Given the description of an element on the screen output the (x, y) to click on. 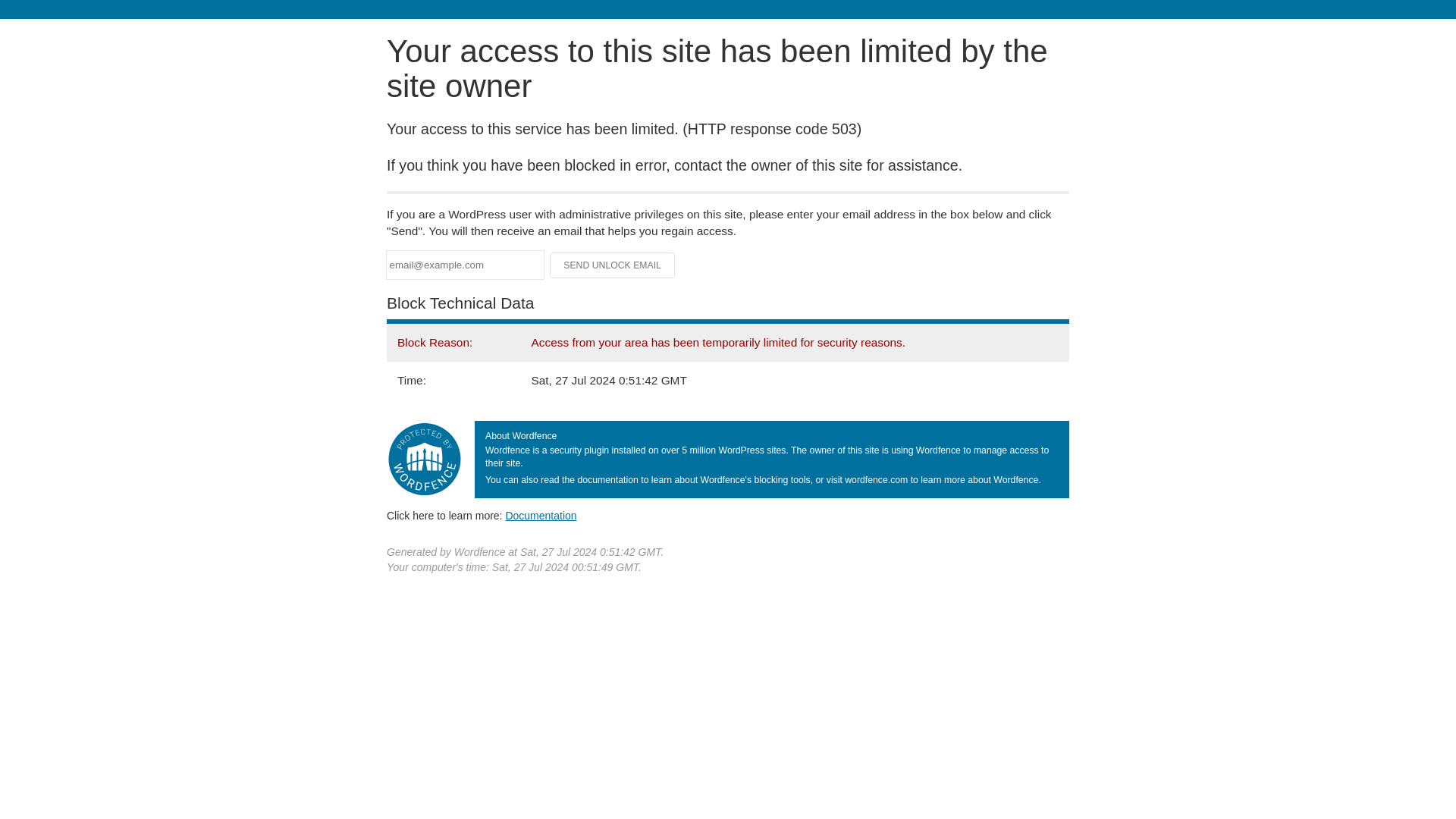
Send Unlock Email (612, 265)
Send Unlock Email (612, 265)
Documentation (540, 515)
